Given the description of an element on the screen output the (x, y) to click on. 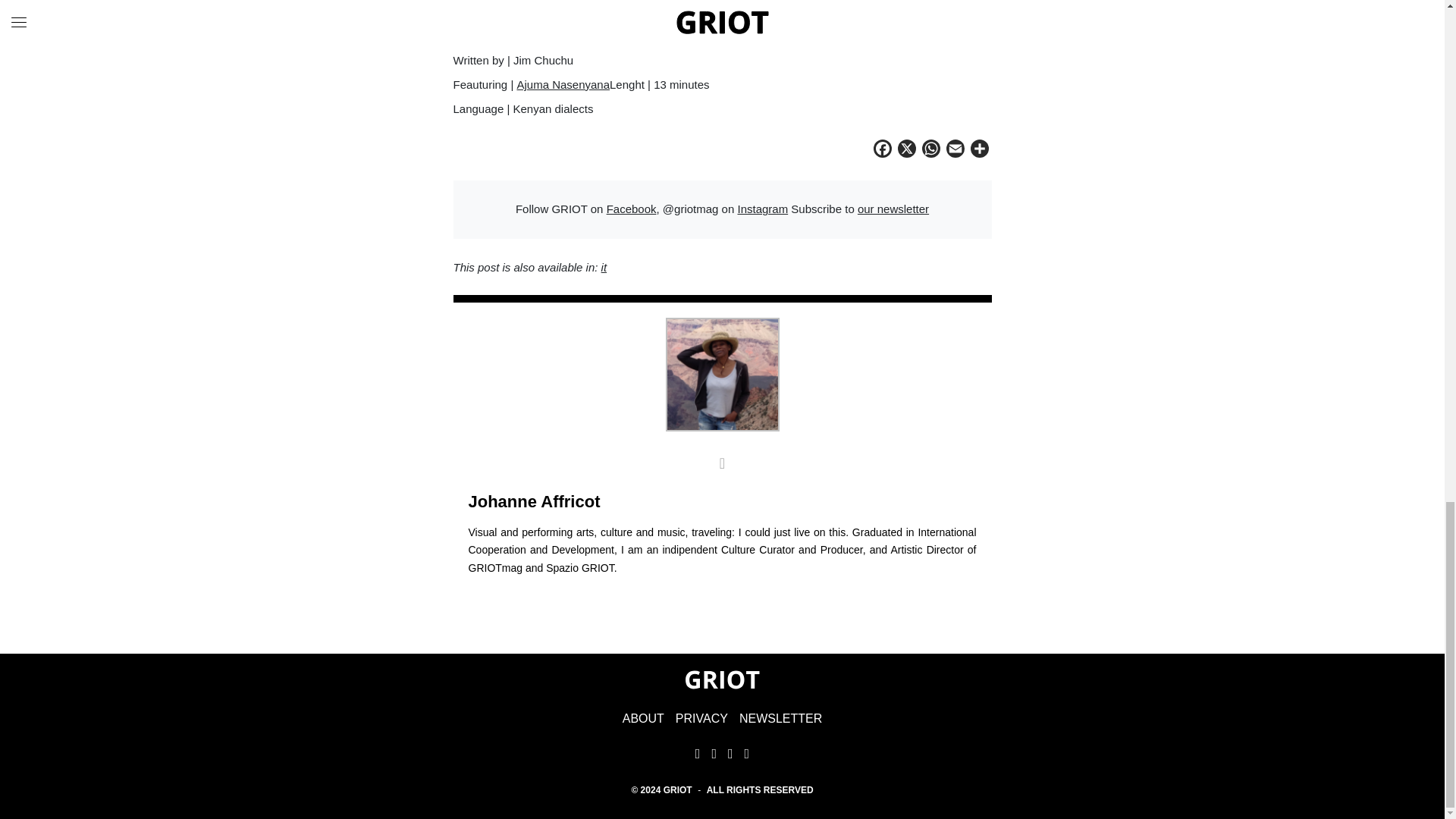
Jim Chuchu (532, 35)
X (906, 150)
WhatsApp (930, 150)
Sunny Dolat (578, 11)
Ajuma Nasenyana (563, 83)
Facebook (882, 150)
Email (955, 150)
